Given the description of an element on the screen output the (x, y) to click on. 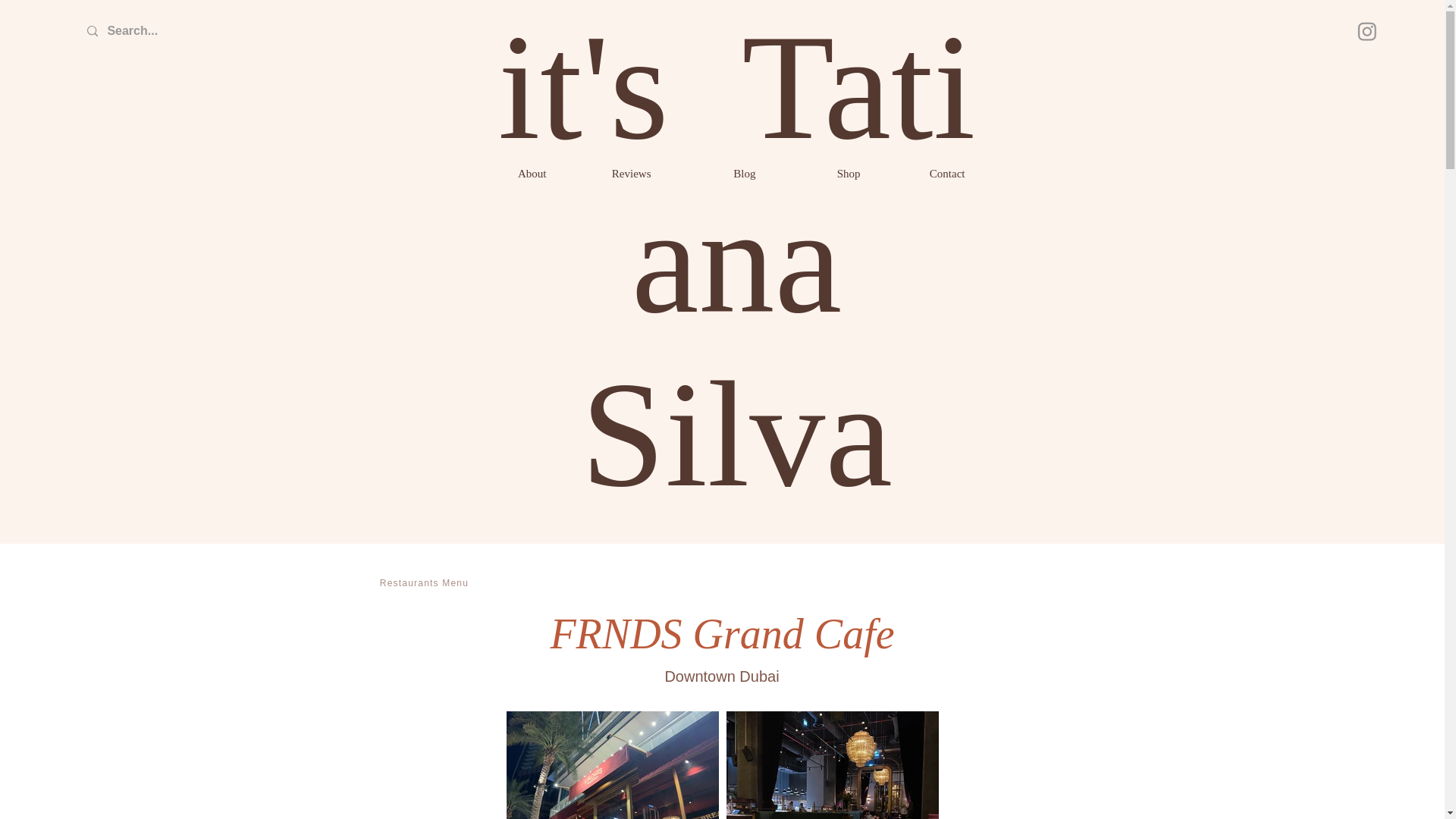
Shop (819, 173)
Restaurants Menu (425, 583)
About (504, 173)
Contact (924, 173)
Blog (714, 173)
Reviews (609, 173)
